Given the description of an element on the screen output the (x, y) to click on. 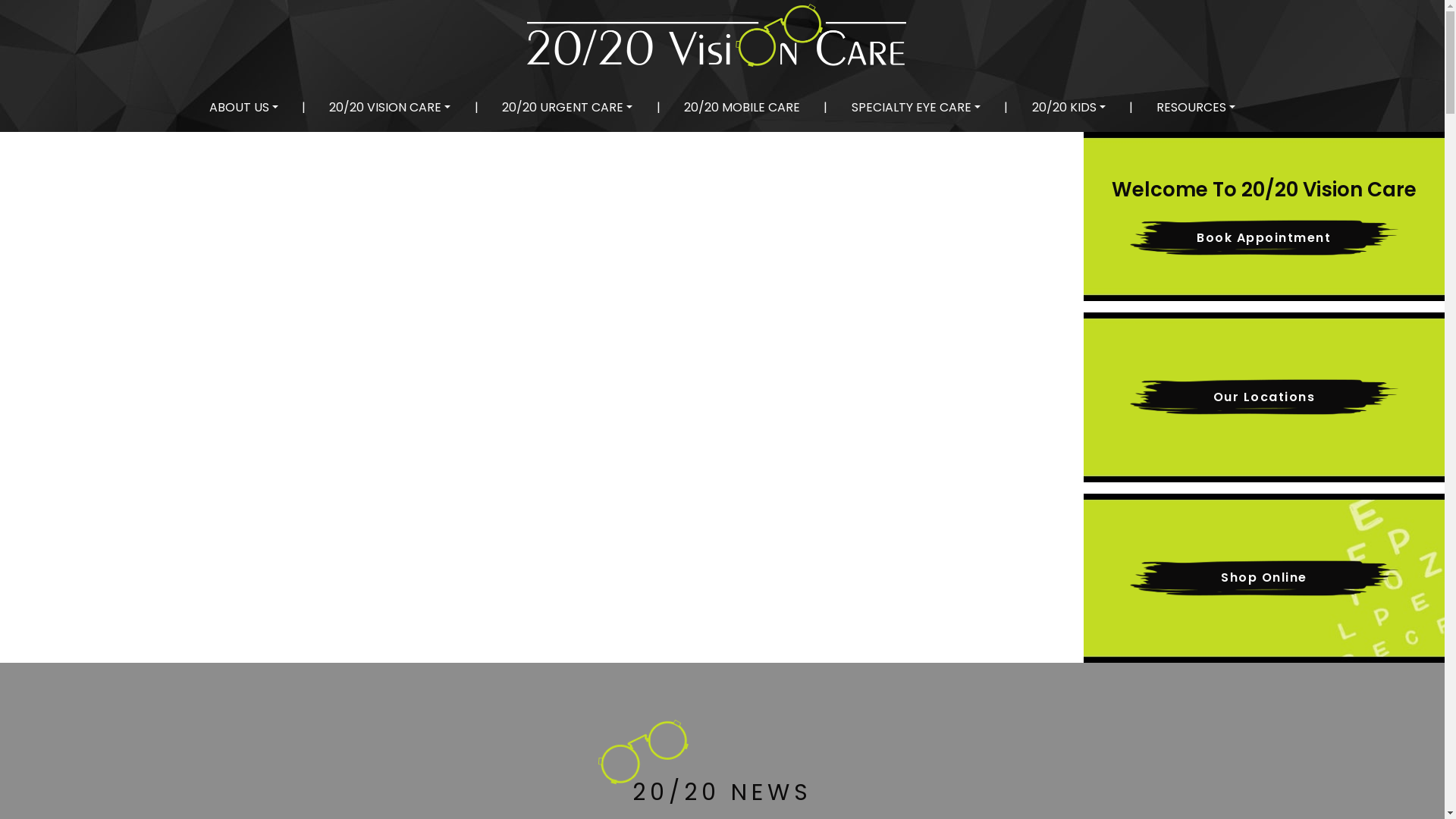
ABOUT US Element type: text (243, 106)
SPECIALTY EYE CARE Element type: text (915, 106)
Our Locations Element type: text (1263, 396)
20/20 VISION CARE Element type: text (389, 106)
20/20 MOBILE CARE Element type: text (741, 106)
RESOURCES Element type: text (1195, 106)
20/20 KIDS Element type: text (1068, 106)
Our Locations Element type: text (1263, 396)
Book Appointment Element type: text (1263, 237)
Welcome To 20/20 Vision Care
Book Appointment Element type: text (1263, 216)
20/20 URGENT CARE Element type: text (566, 106)
Shop Online Element type: text (1263, 577)
Shop Online Element type: text (1263, 578)
